Given the description of an element on the screen output the (x, y) to click on. 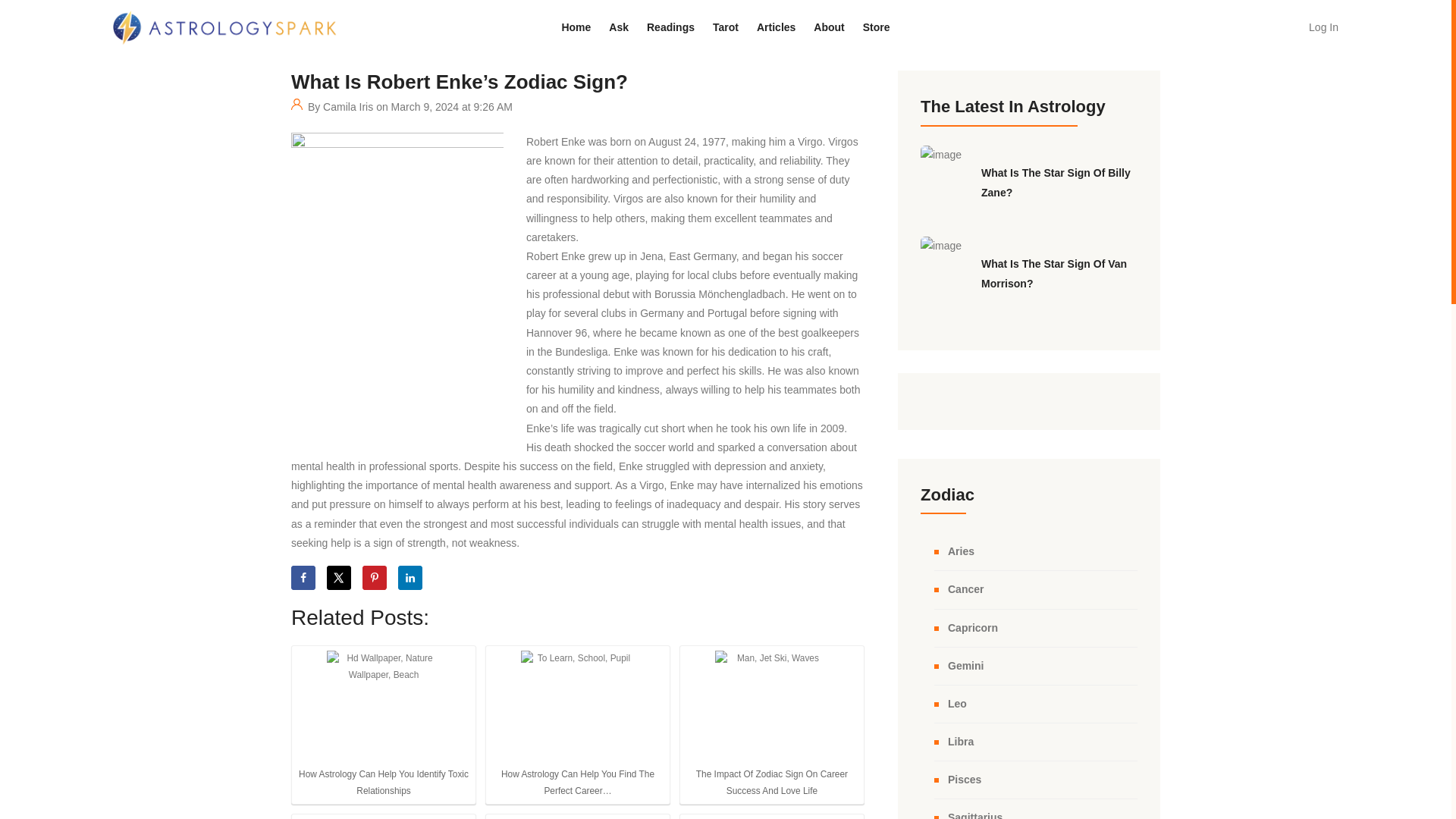
The Impact Of Zodiac Sign On Career Success And Love Life (771, 707)
How Astrology Can Help You Identify Toxic Relationships (383, 707)
Share on X (338, 577)
Save to Pinterest (374, 577)
Share on Facebook (303, 577)
Share on LinkedIn (409, 577)
